Given the description of an element on the screen output the (x, y) to click on. 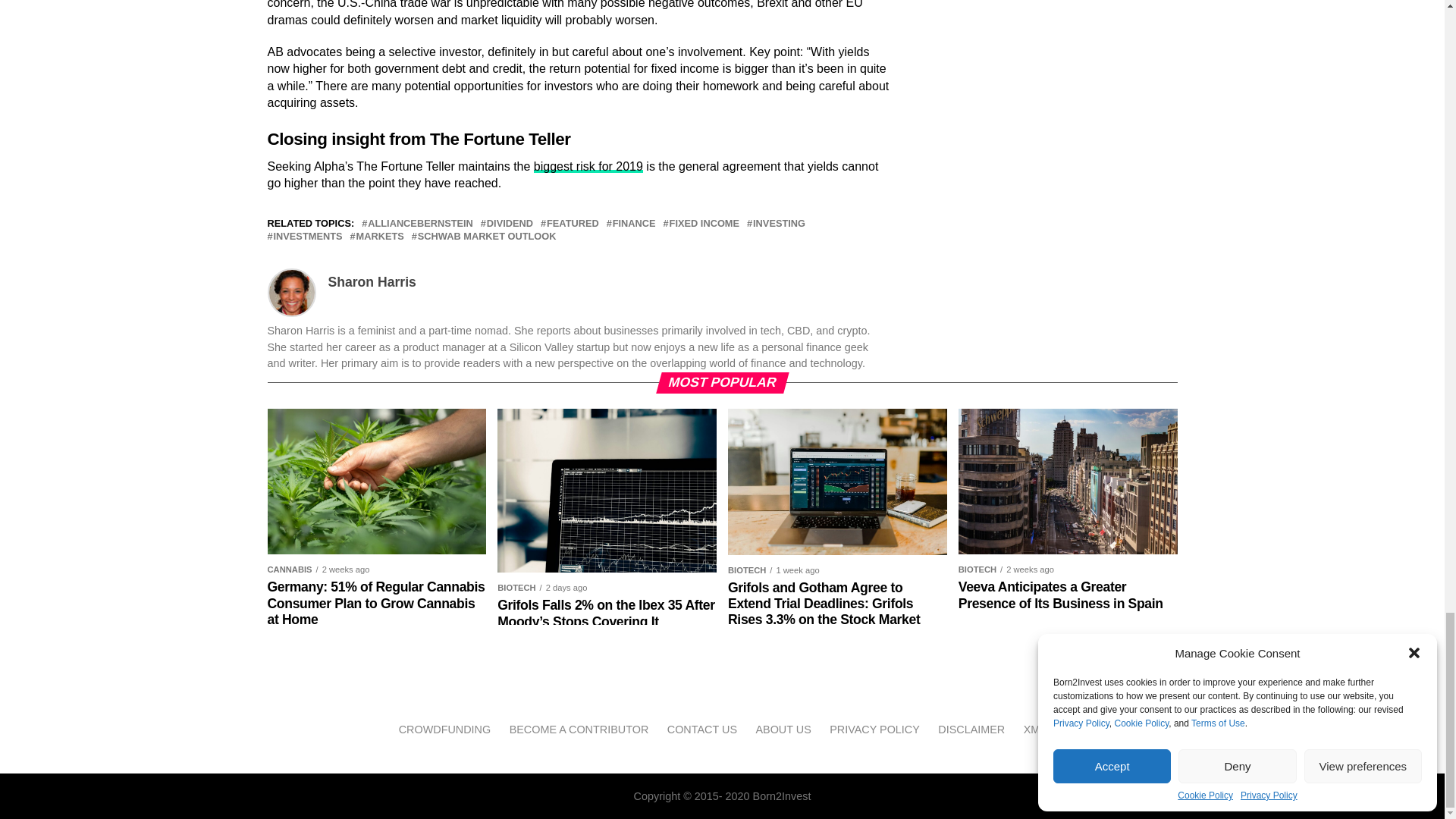
Posts by Sharon Harris (370, 281)
